Given the description of an element on the screen output the (x, y) to click on. 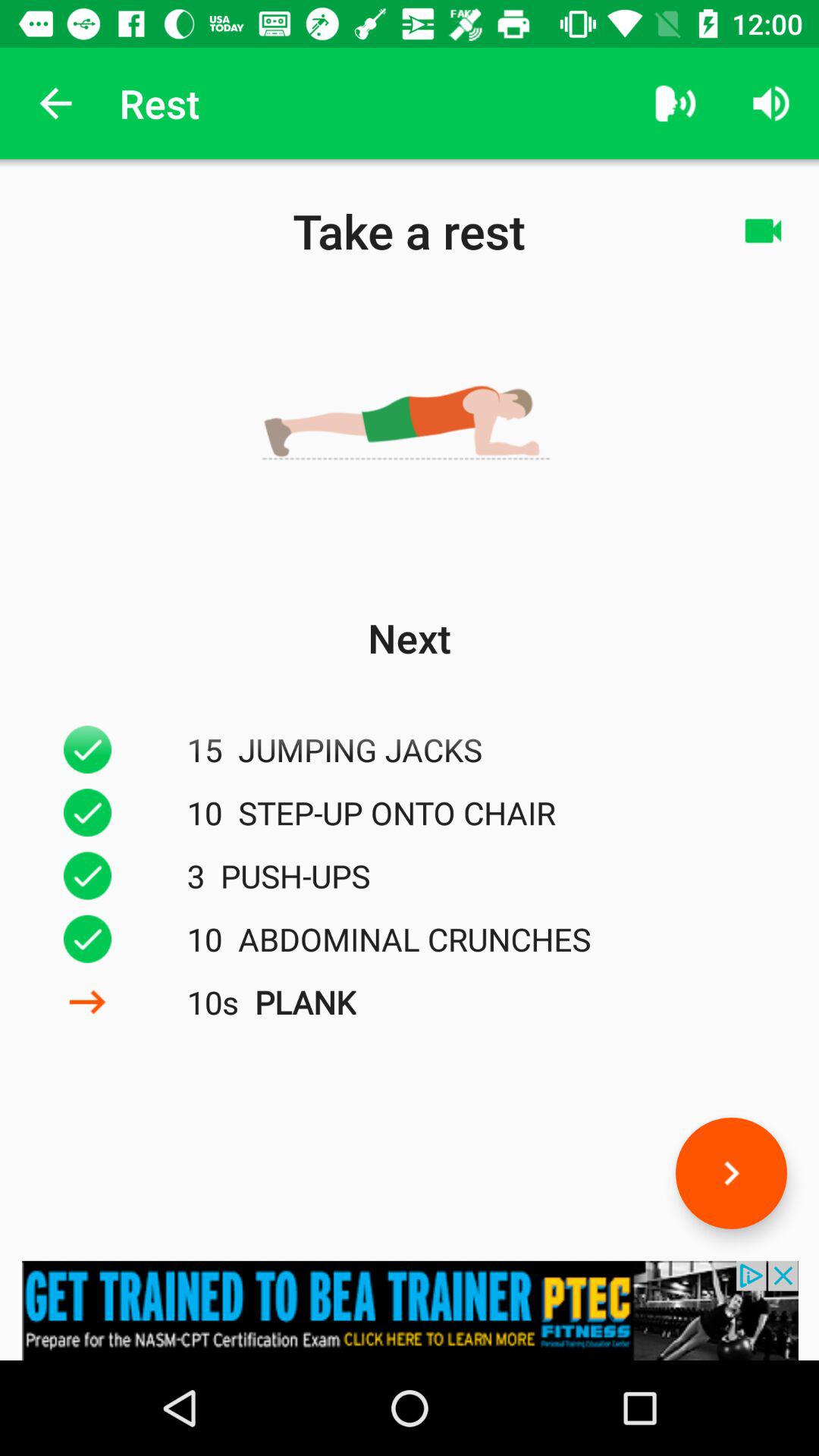
camera tool (763, 230)
